Given the description of an element on the screen output the (x, y) to click on. 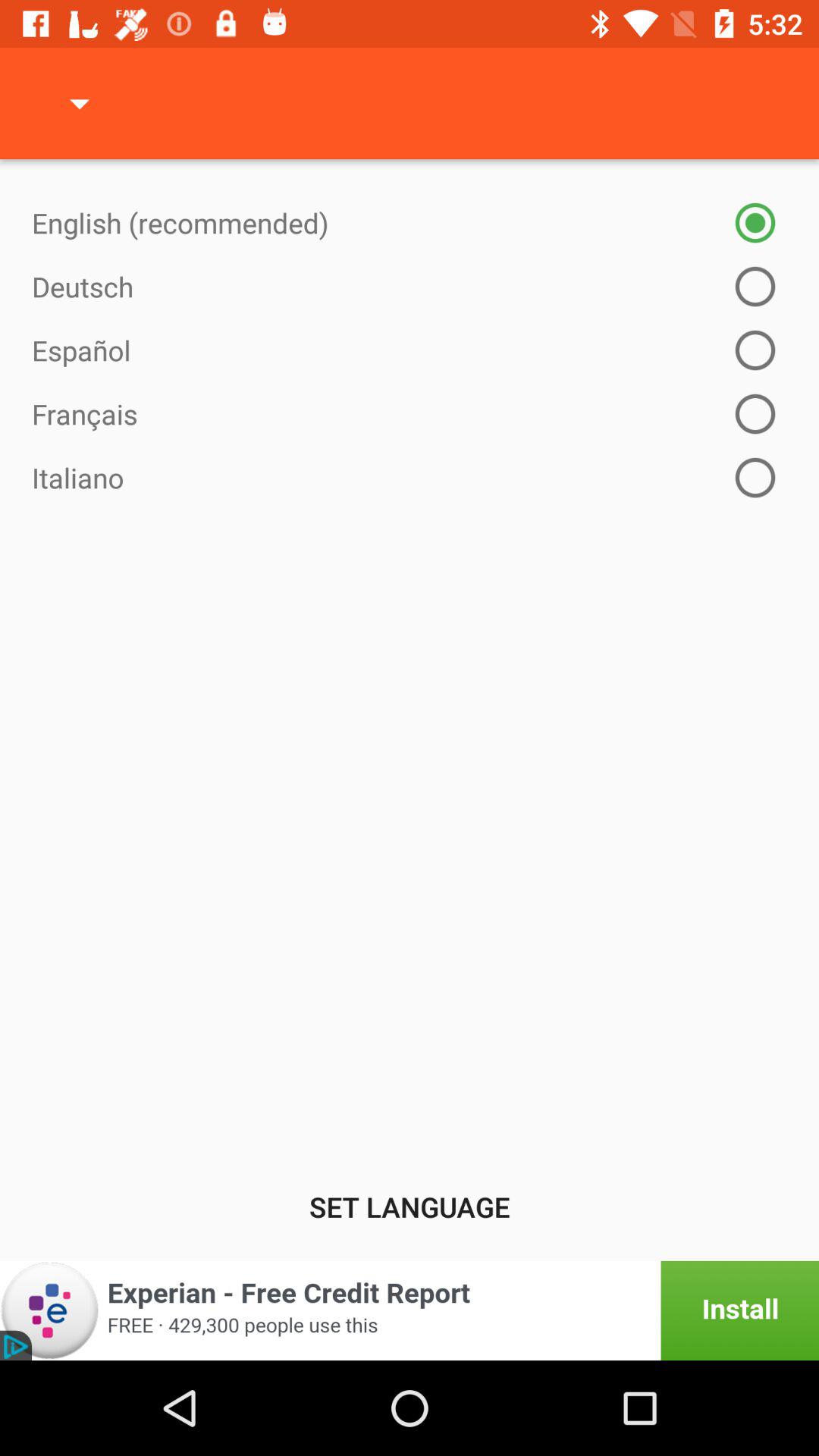
launch the set language (409, 1206)
